Given the description of an element on the screen output the (x, y) to click on. 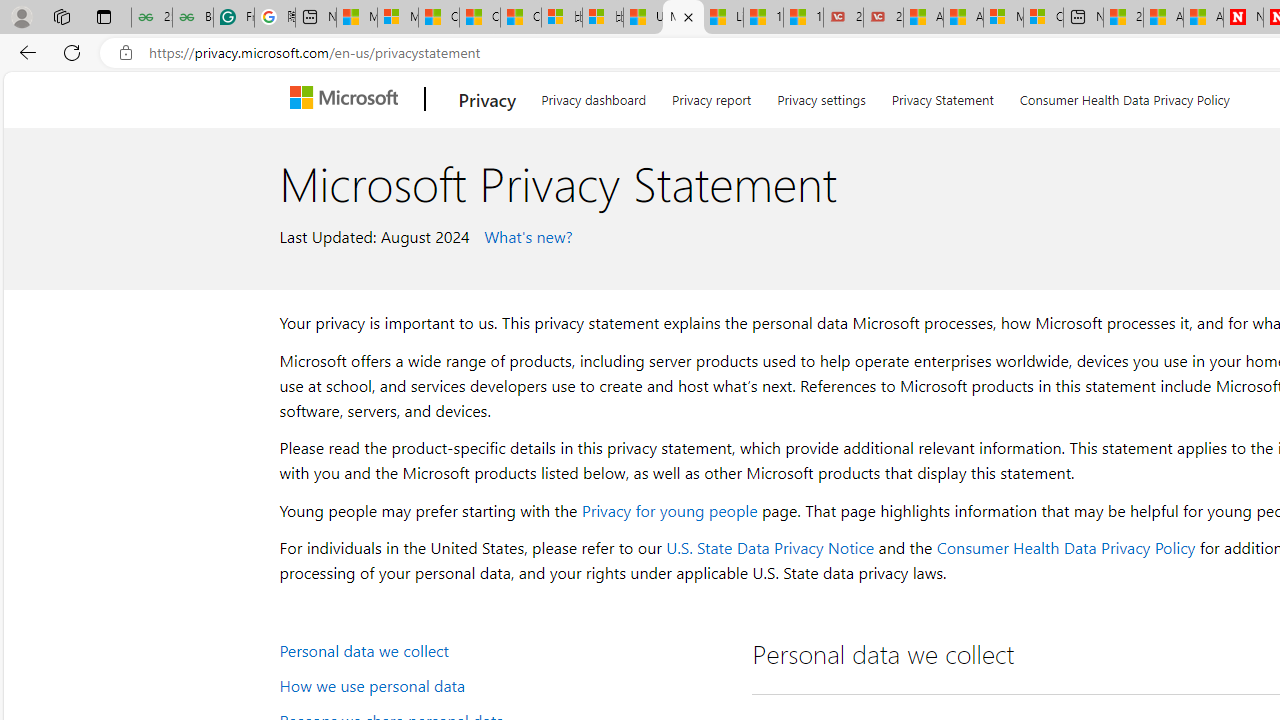
How we use personal data (504, 684)
20 Ways to Boost Your Protein Intake at Every Meal (1123, 17)
Consumer Health Data Privacy Policy (1065, 547)
Privacy settings (821, 96)
Personal data we collect (504, 650)
Lifestyle - MSN (723, 17)
USA TODAY - MSN (643, 17)
